Given the description of an element on the screen output the (x, y) to click on. 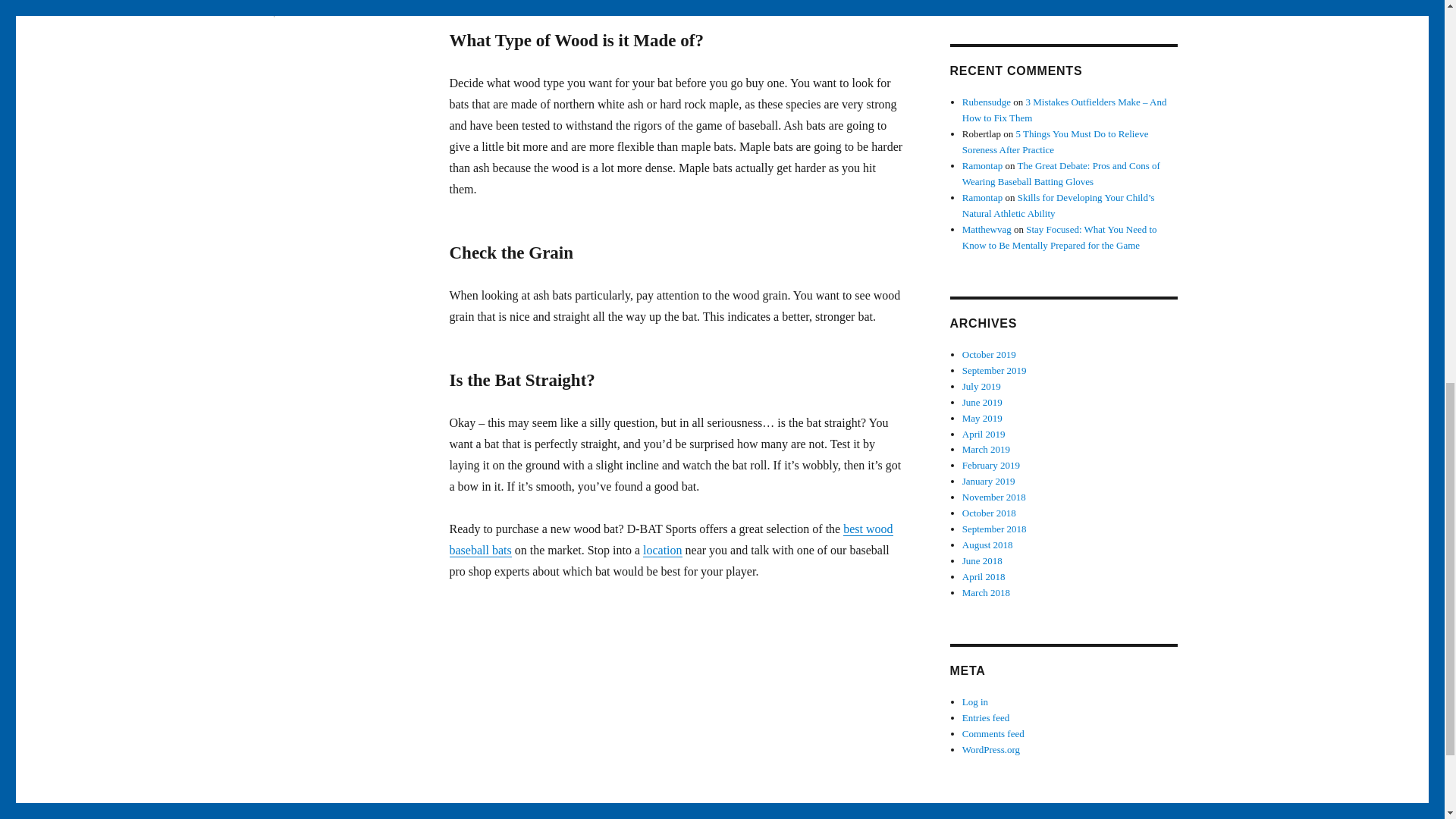
best wood baseball bats (670, 539)
July 2019 (981, 386)
5 Things You Must Do to Relieve Soreness After Practice (1055, 141)
June 2019 (304, 12)
Matthewvag (982, 401)
Ramontap (986, 229)
Ramontap (982, 197)
October 2019 (982, 165)
September 2019 (989, 354)
Rubensudge (994, 369)
location (986, 101)
